Given the description of an element on the screen output the (x, y) to click on. 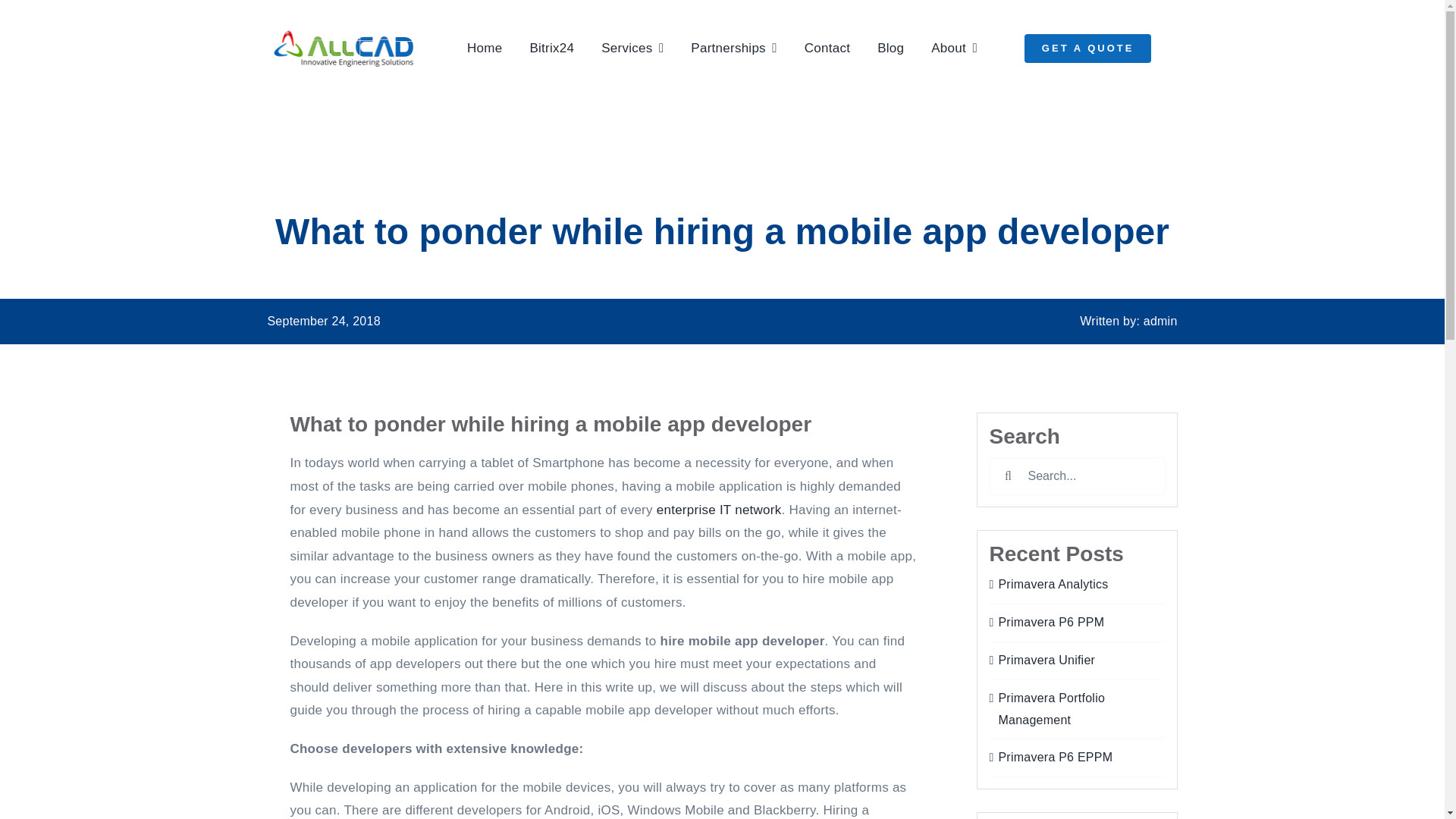
Services (632, 48)
Bitrix24 (551, 48)
Home (484, 48)
